Given the description of an element on the screen output the (x, y) to click on. 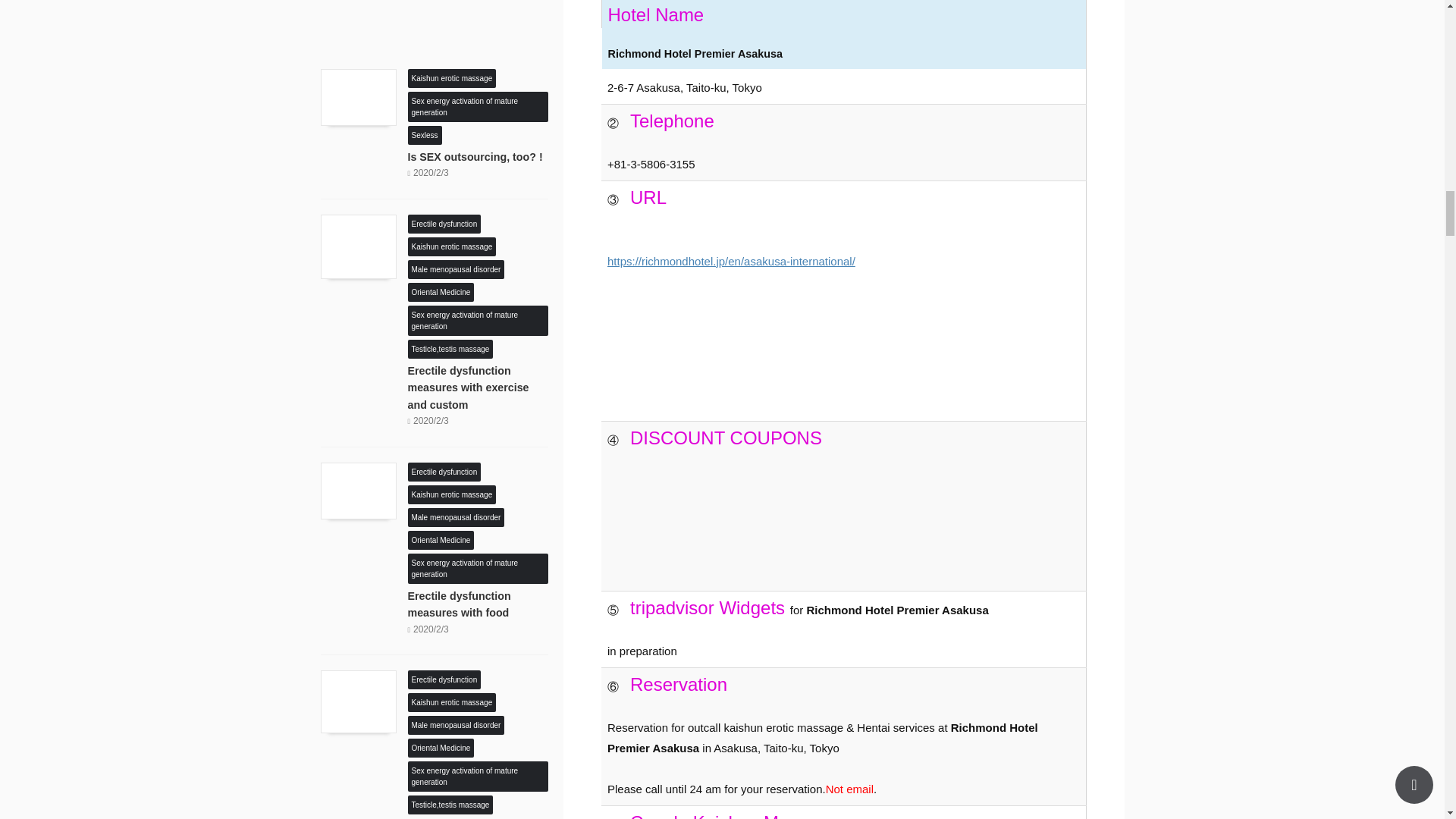
View all posts in Testicle,testis massage (450, 348)
View all posts in Male menopausal disorder (456, 516)
View all posts in Male menopausal disorder (456, 268)
View all posts in Kaishun erotic massage (451, 493)
View all posts in Erectile dysfunction (444, 679)
View all posts in Sex energy activation of mature generation (477, 326)
View all posts in Sex energy activation of mature generation (477, 112)
View all posts in Sexless (424, 134)
View all posts in Oriental Medicine (440, 539)
View all posts in Kaishun erotic massage (451, 77)
View all posts in Sex energy activation of mature generation (477, 573)
View all posts in Oriental Medicine (440, 291)
View all posts in Erectile dysfunction (444, 471)
View all posts in Erectile dysfunction (444, 223)
View all posts in Kaishun erotic massage (451, 245)
